Given the description of an element on the screen output the (x, y) to click on. 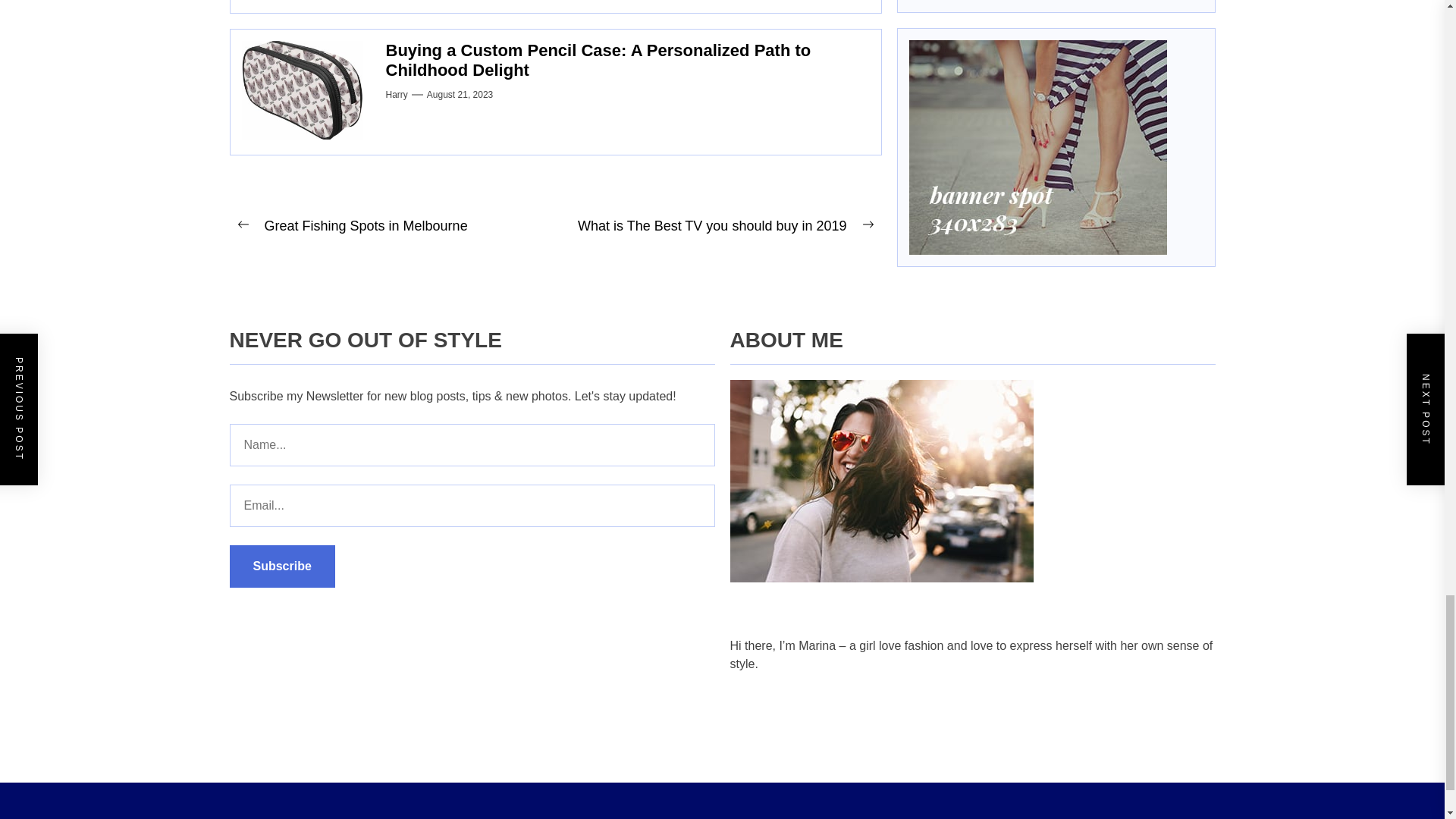
Subscribe (281, 566)
